Given the description of an element on the screen output the (x, y) to click on. 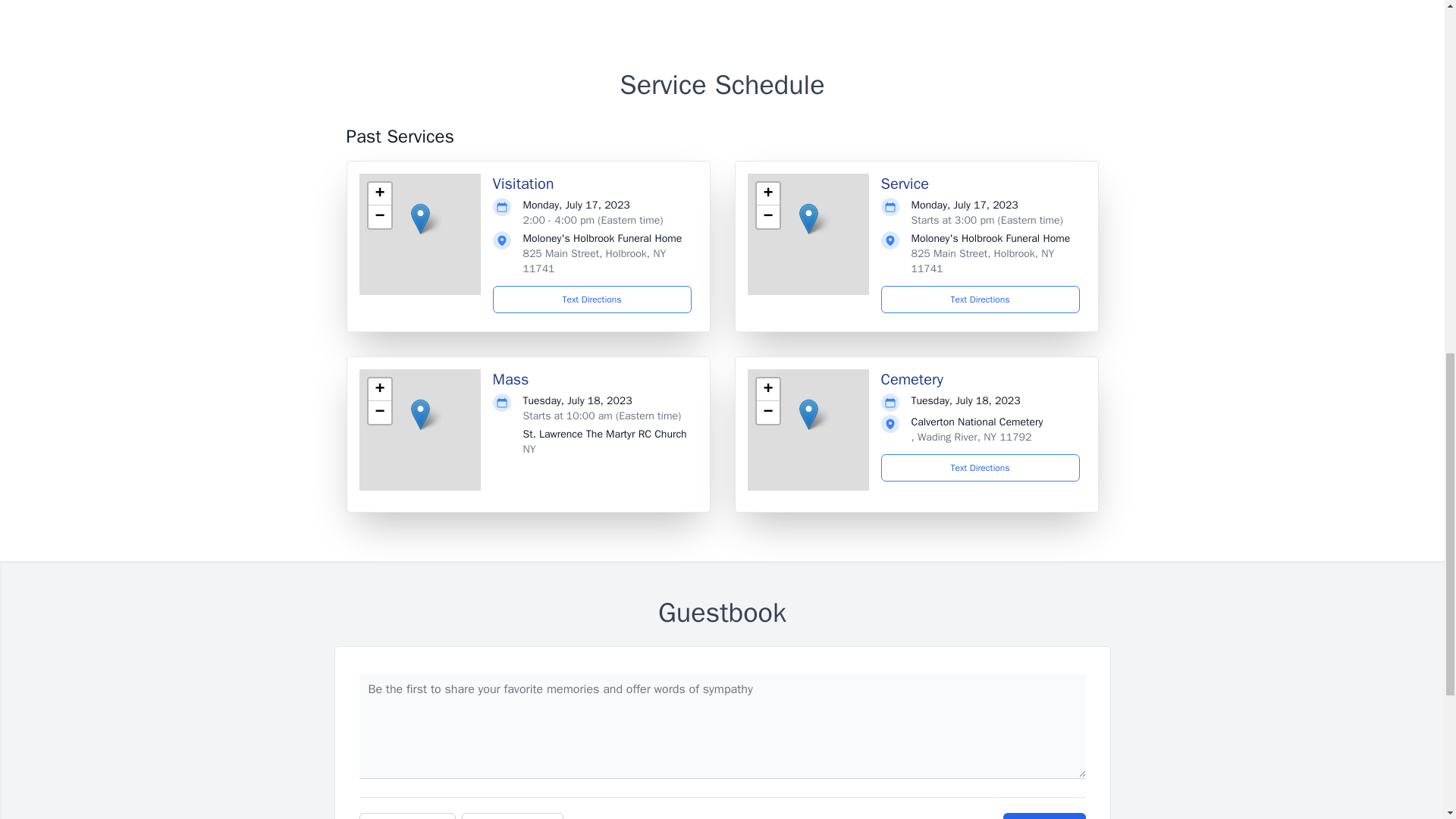
Text Directions (592, 298)
NY (528, 449)
825 Main Street, Holbrook, NY 11741 (594, 261)
Zoom in (379, 193)
Zoom out (767, 216)
825 Main Street, Holbrook, NY 11741 (982, 261)
Zoom out (379, 412)
Zoom in (379, 389)
Zoom in (767, 193)
Zoom out (767, 412)
